Given the description of an element on the screen output the (x, y) to click on. 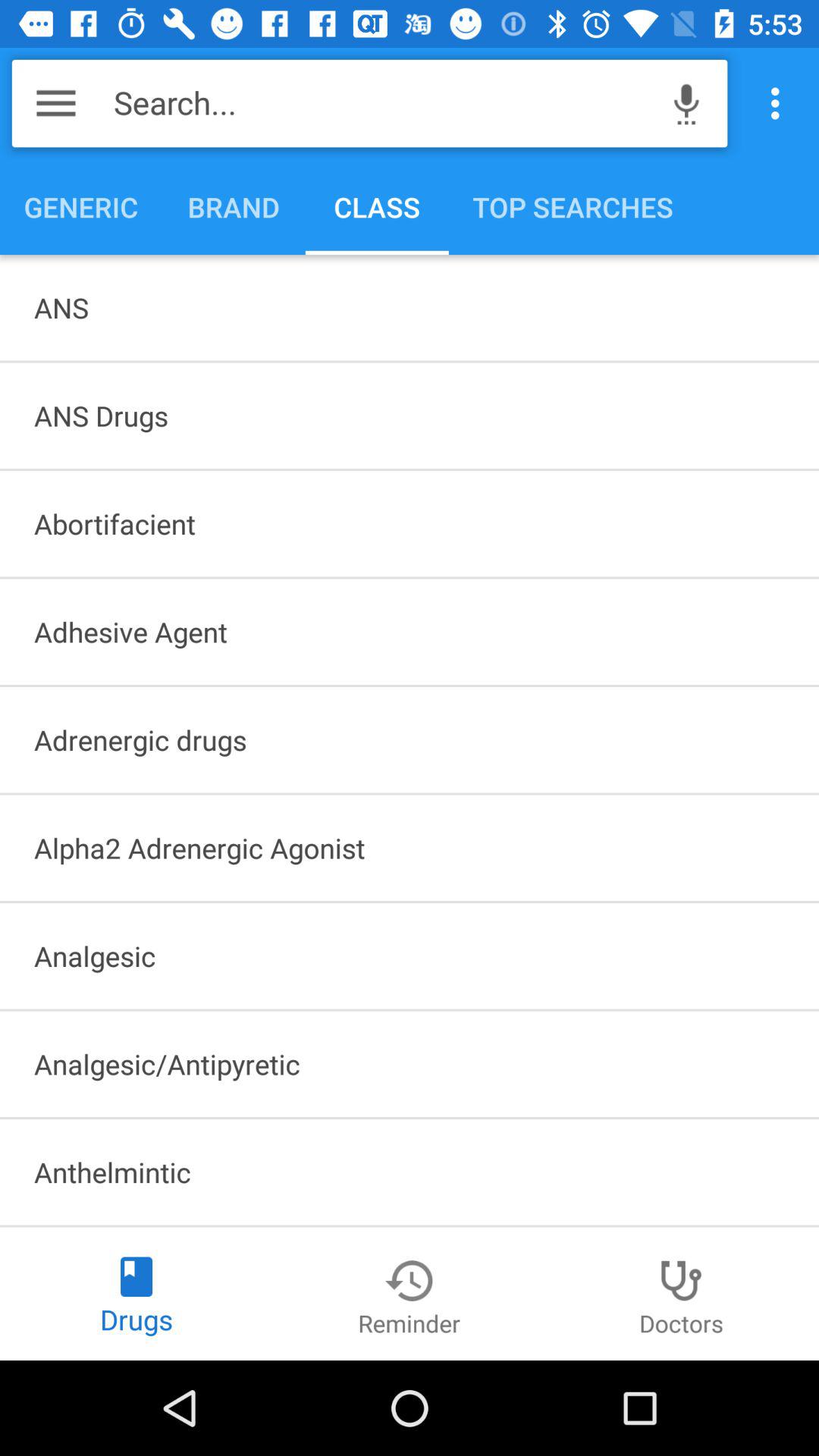
open adhesive agent icon (409, 631)
